Given the description of an element on the screen output the (x, y) to click on. 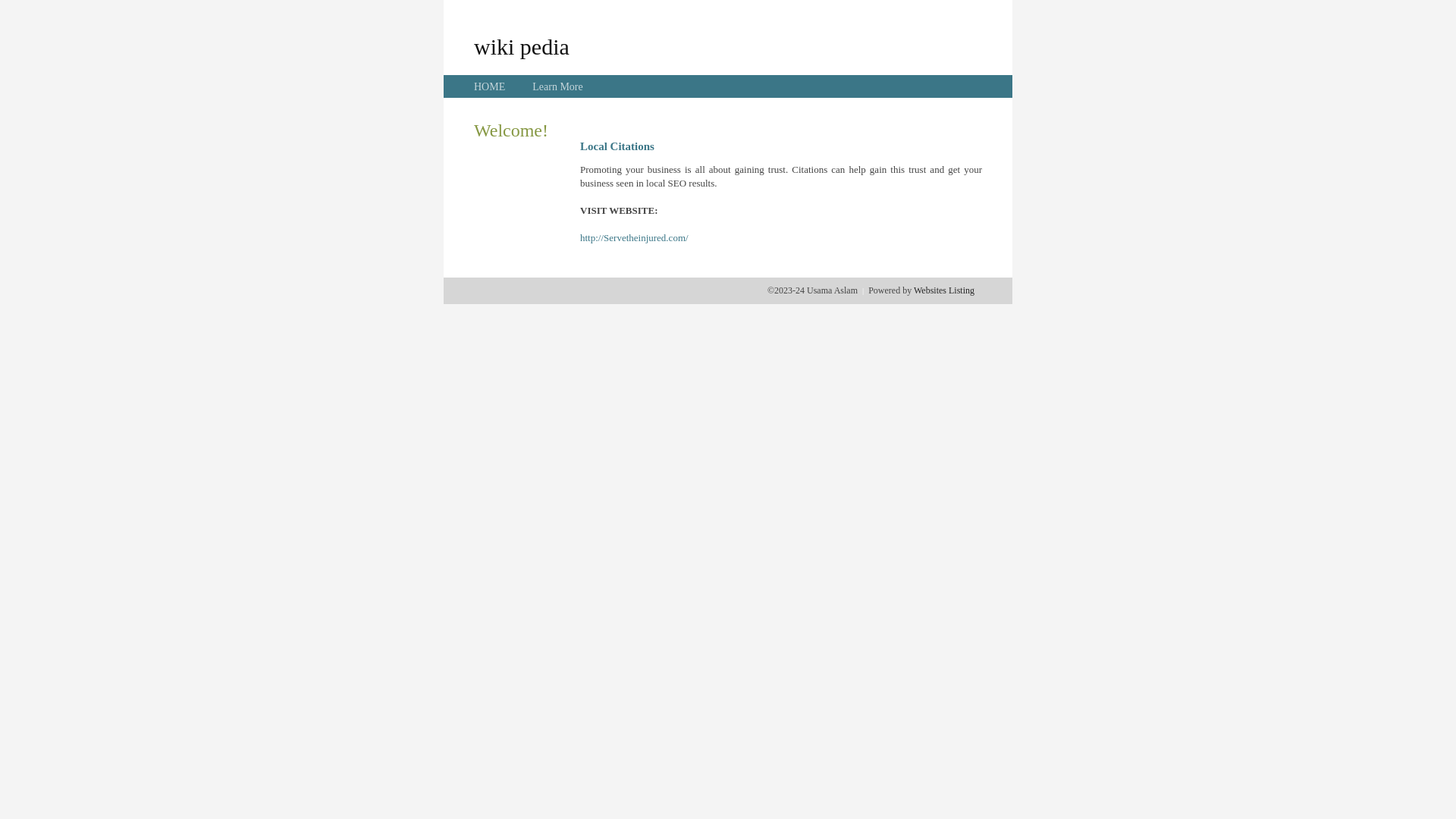
HOME Element type: text (489, 86)
Learn More Element type: text (557, 86)
wiki pedia Element type: text (521, 46)
Websites Listing Element type: text (943, 290)
http://Servetheinjured.com/ Element type: text (634, 237)
